Given the description of an element on the screen output the (x, y) to click on. 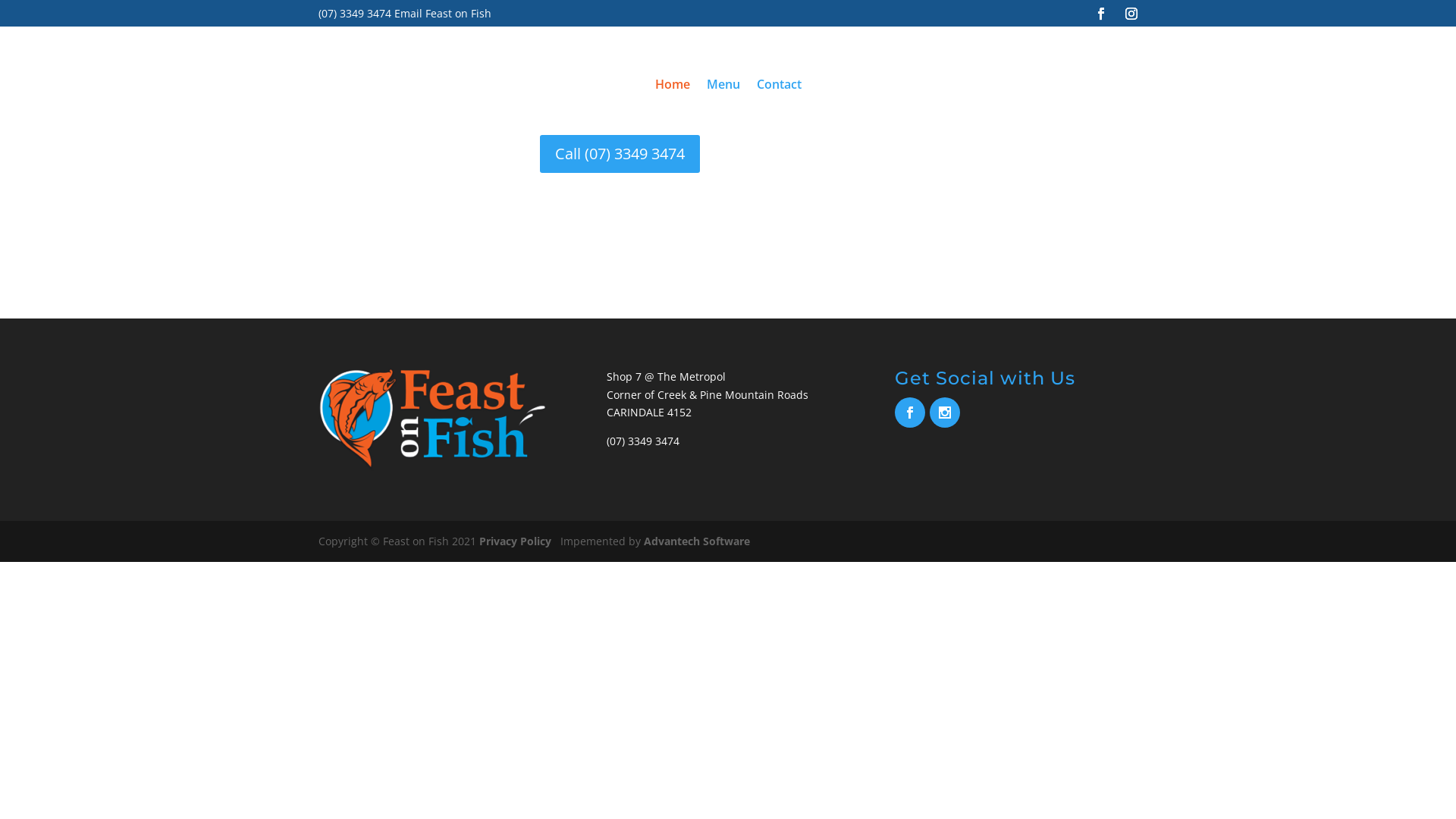
Menu Element type: text (723, 83)
(07) 3349 3474 Element type: text (354, 13)
Advantech Software Element type: text (696, 540)
(07) 3349 3474 Element type: text (642, 440)
Privacy Policy Element type: text (515, 540)
Call (07) 3349 3474 Element type: text (619, 153)
Home Element type: text (672, 83)
Email Feast on Fish Element type: text (442, 13)
Contact Element type: text (778, 83)
